Given the description of an element on the screen output the (x, y) to click on. 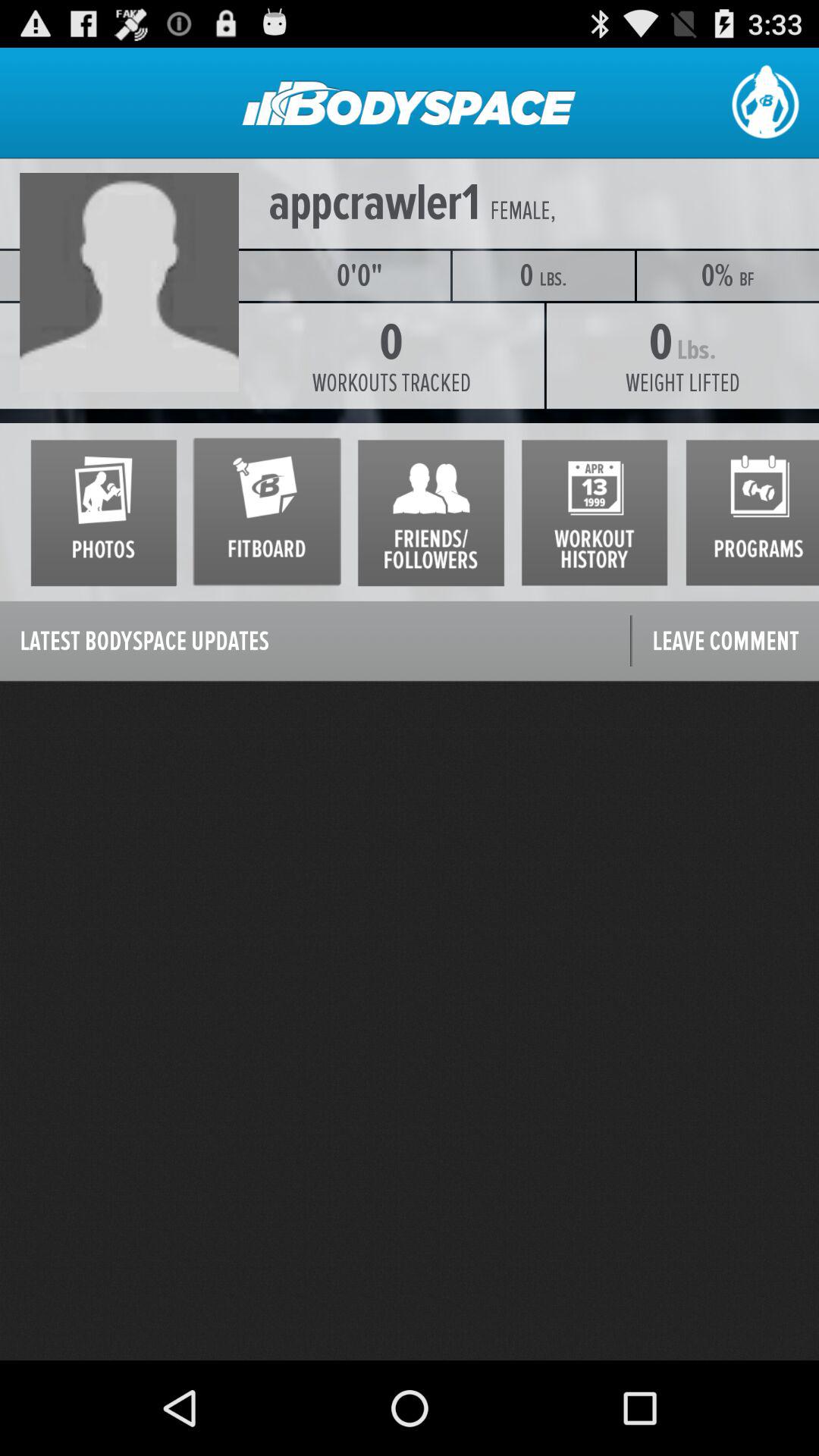
jump to weight lifted icon (682, 382)
